Given the description of an element on the screen output the (x, y) to click on. 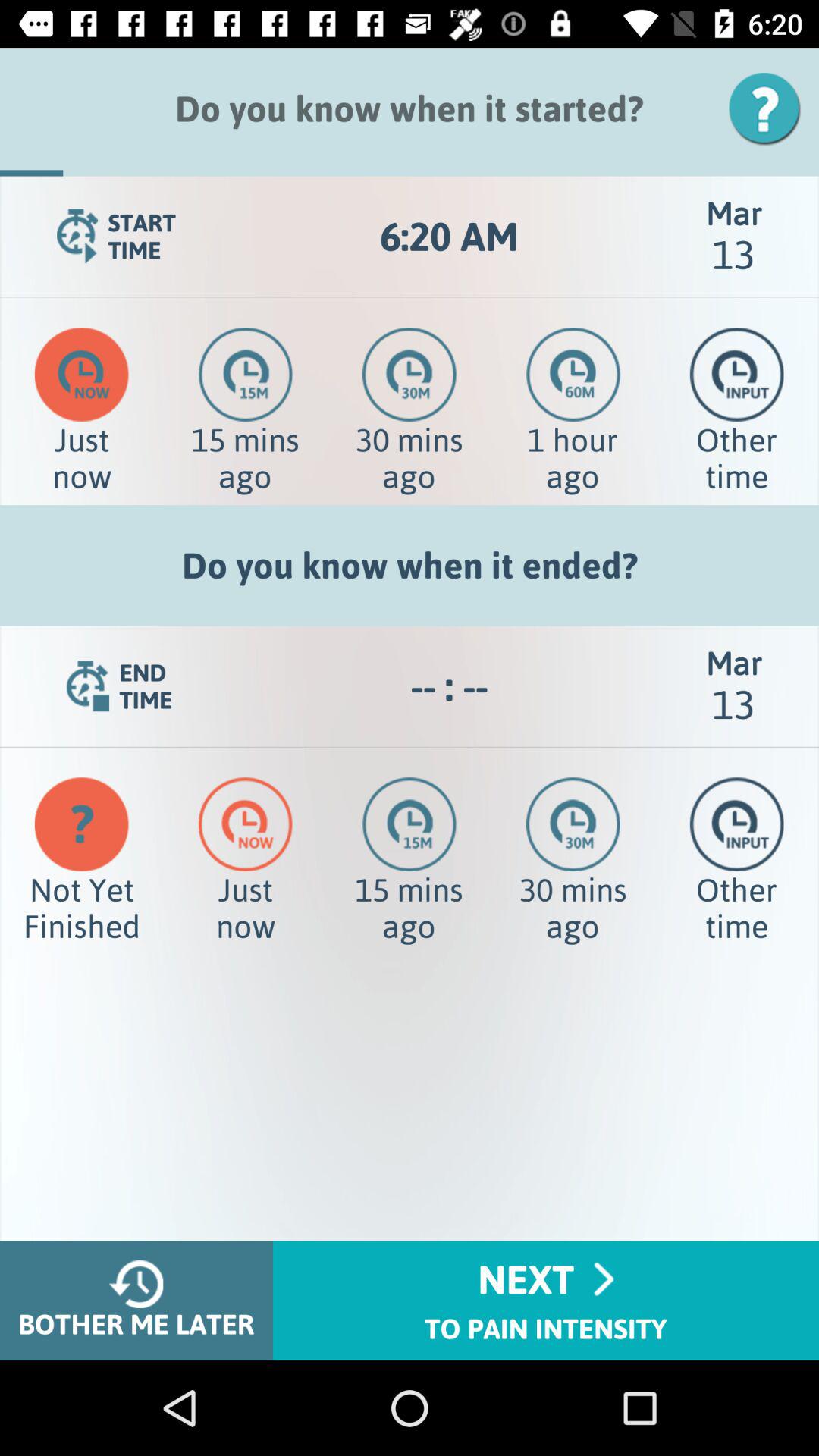
launch the icon to the left of mar
13 app (448, 686)
